Given the description of an element on the screen output the (x, y) to click on. 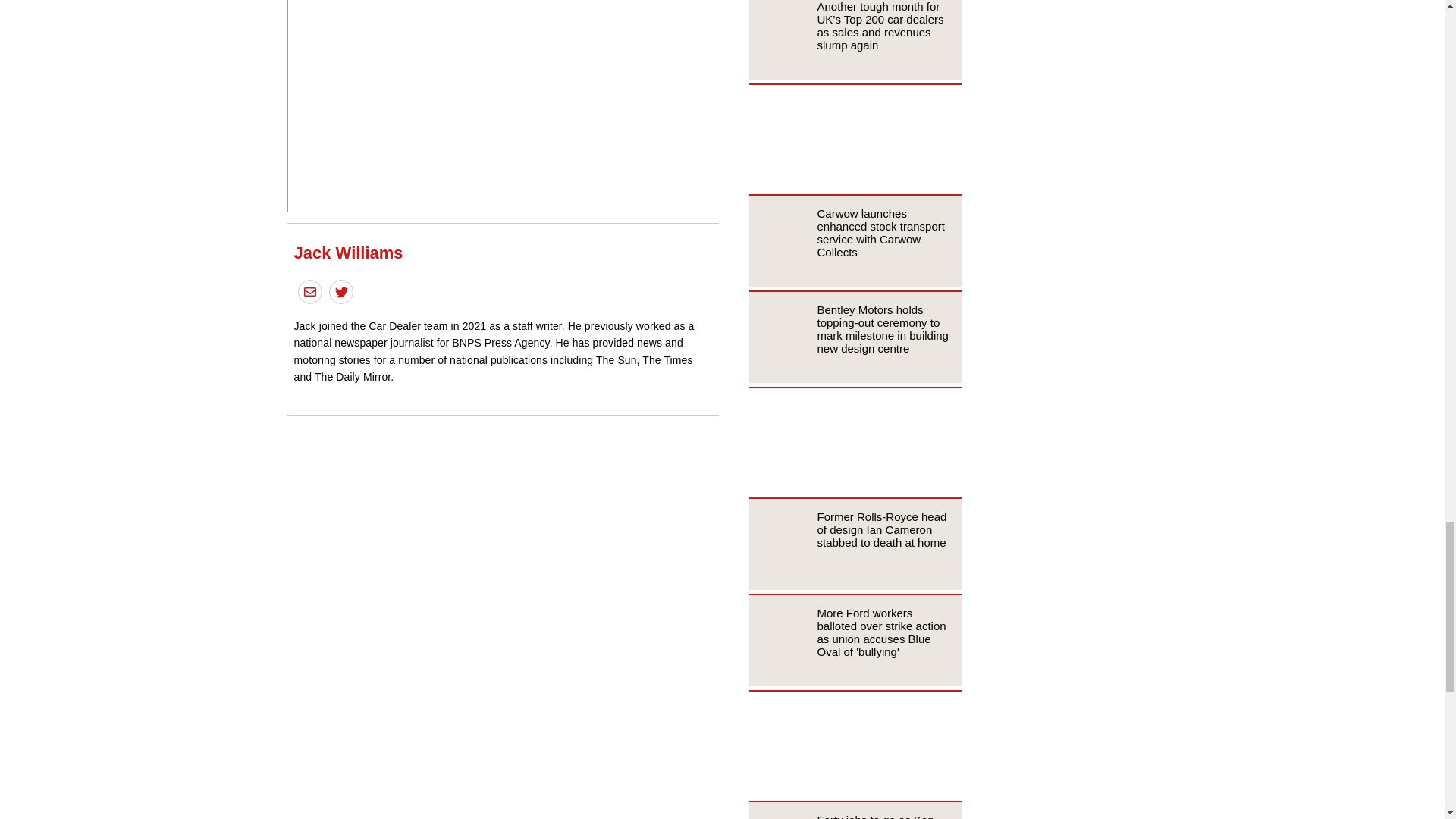
Jack Williams (348, 252)
Posts by Jack Williams (348, 252)
